Given the description of an element on the screen output the (x, y) to click on. 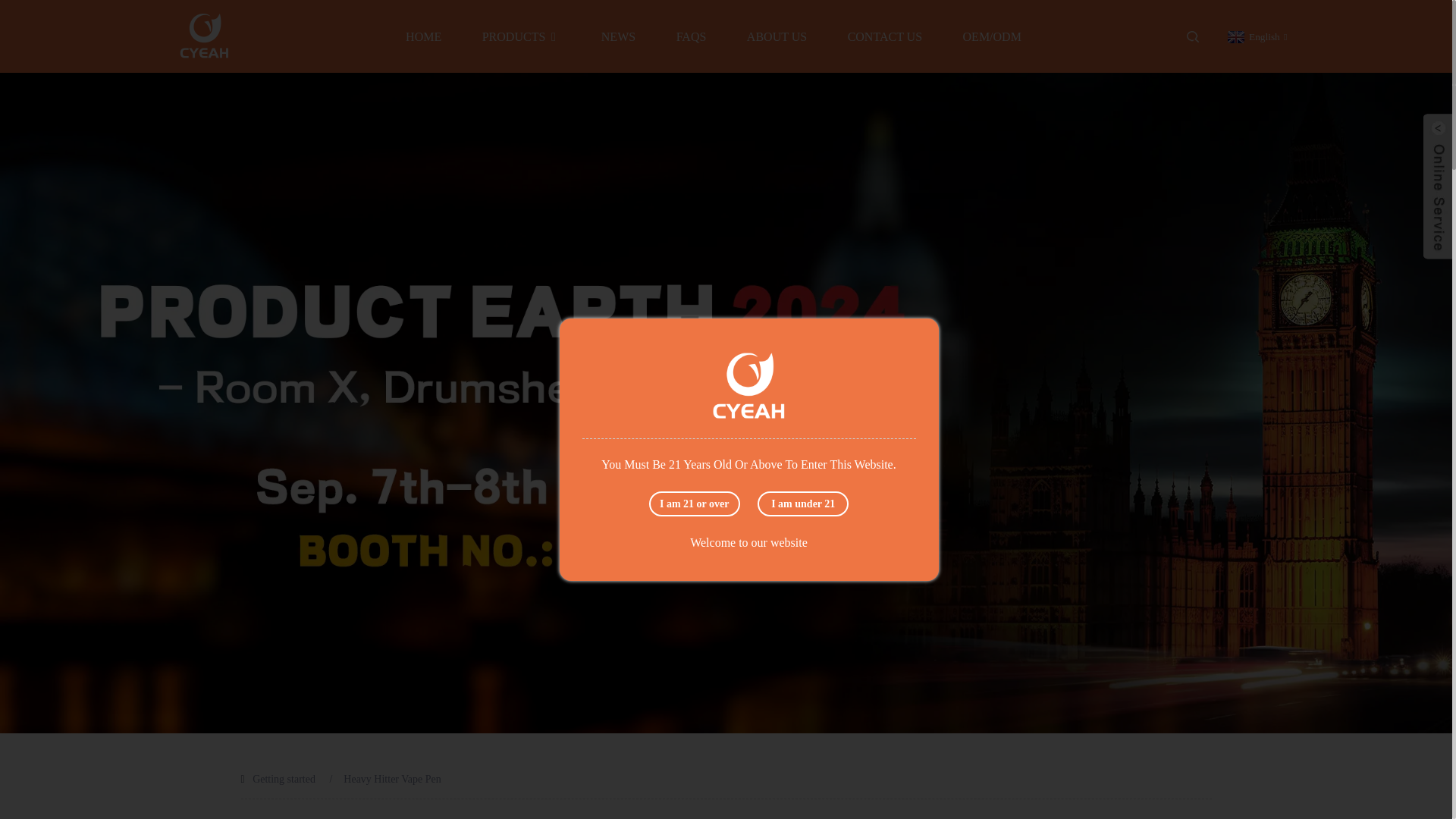
PRODUCTS (520, 36)
Getting started (283, 778)
ABOUT US (776, 36)
I am 21 or over (694, 503)
Heavy Hitter Vape Pen (392, 778)
HOME (423, 36)
CONTACT US (884, 36)
NEWS (617, 36)
FAQS (691, 36)
I am under 21 (802, 503)
English (1255, 36)
